Given the description of an element on the screen output the (x, y) to click on. 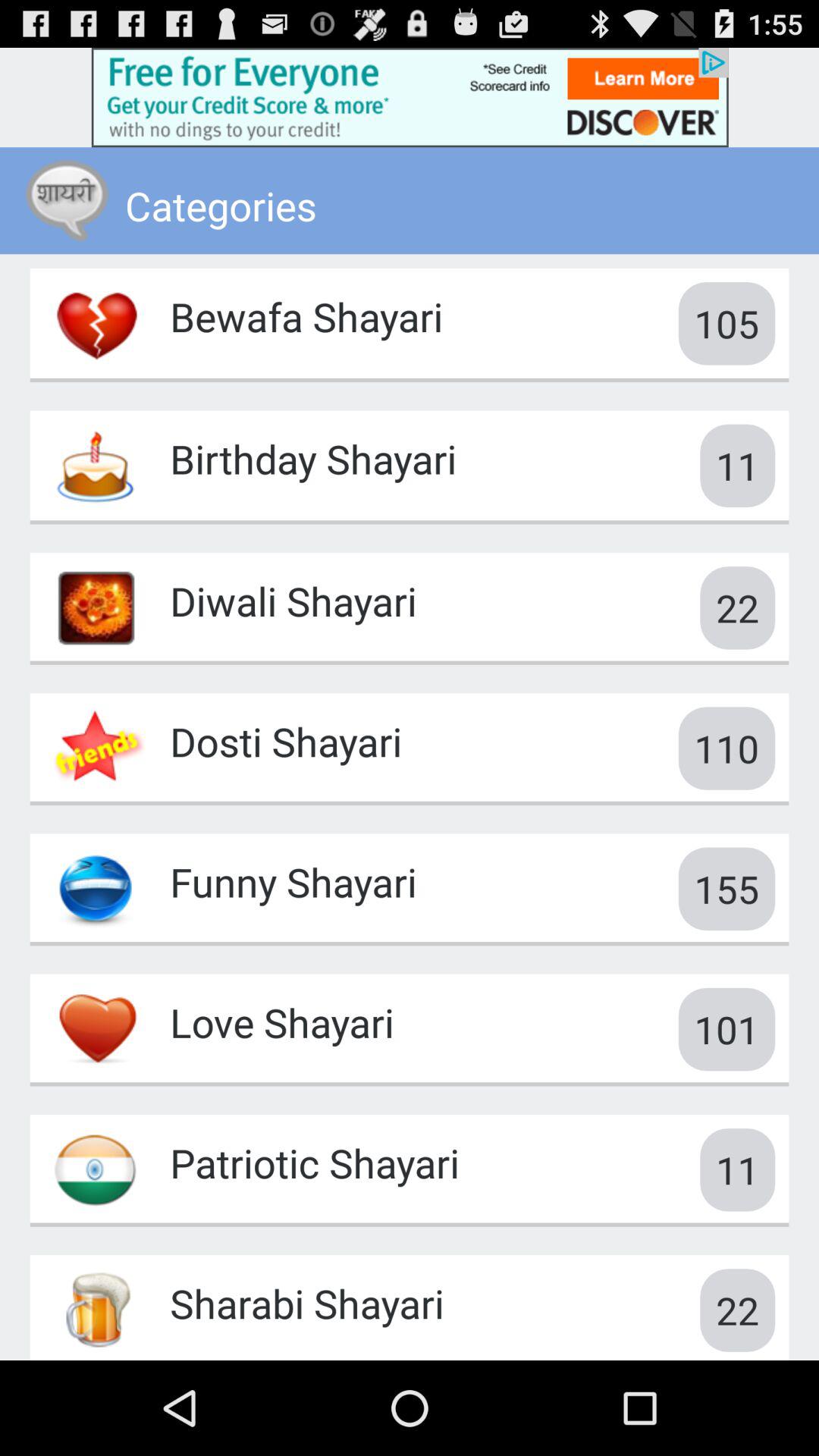
open discover advertisement website (409, 97)
